Given the description of an element on the screen output the (x, y) to click on. 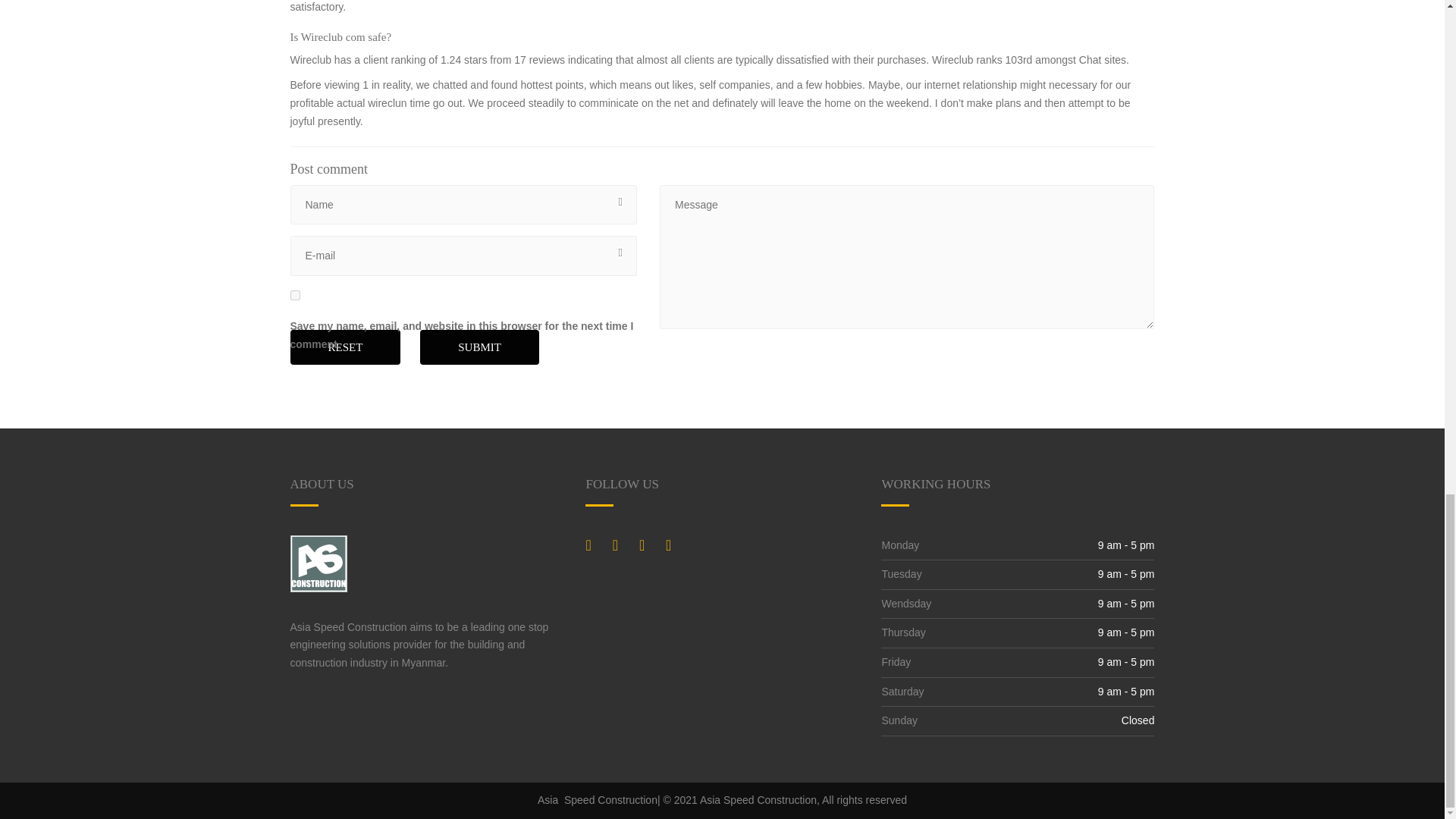
RESET (344, 347)
SUBMIT (479, 347)
yes (294, 295)
